Given the description of an element on the screen output the (x, y) to click on. 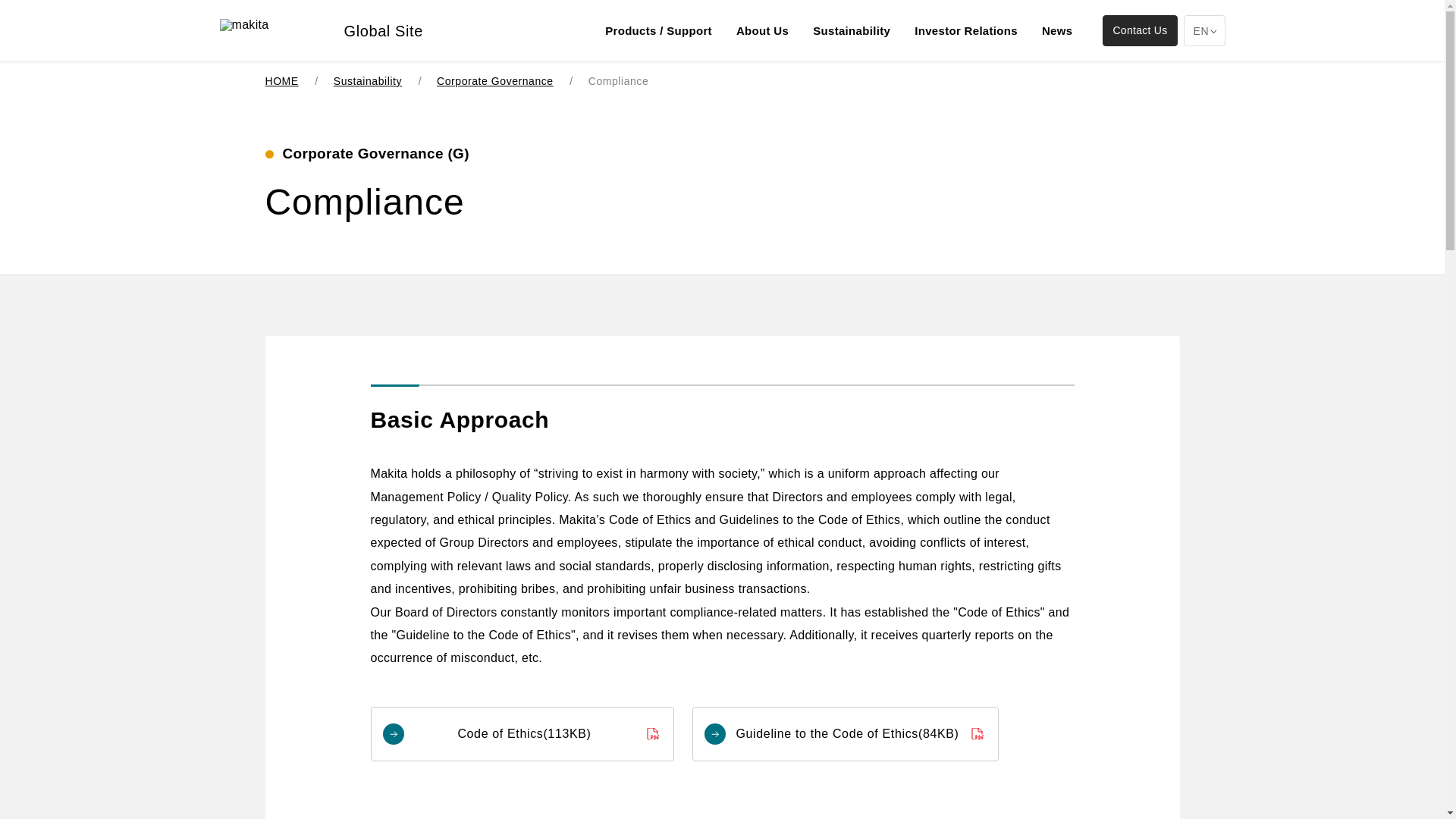
About Us (761, 31)
Sustainability (851, 31)
Skip to main contents (787, 71)
